Given the description of an element on the screen output the (x, y) to click on. 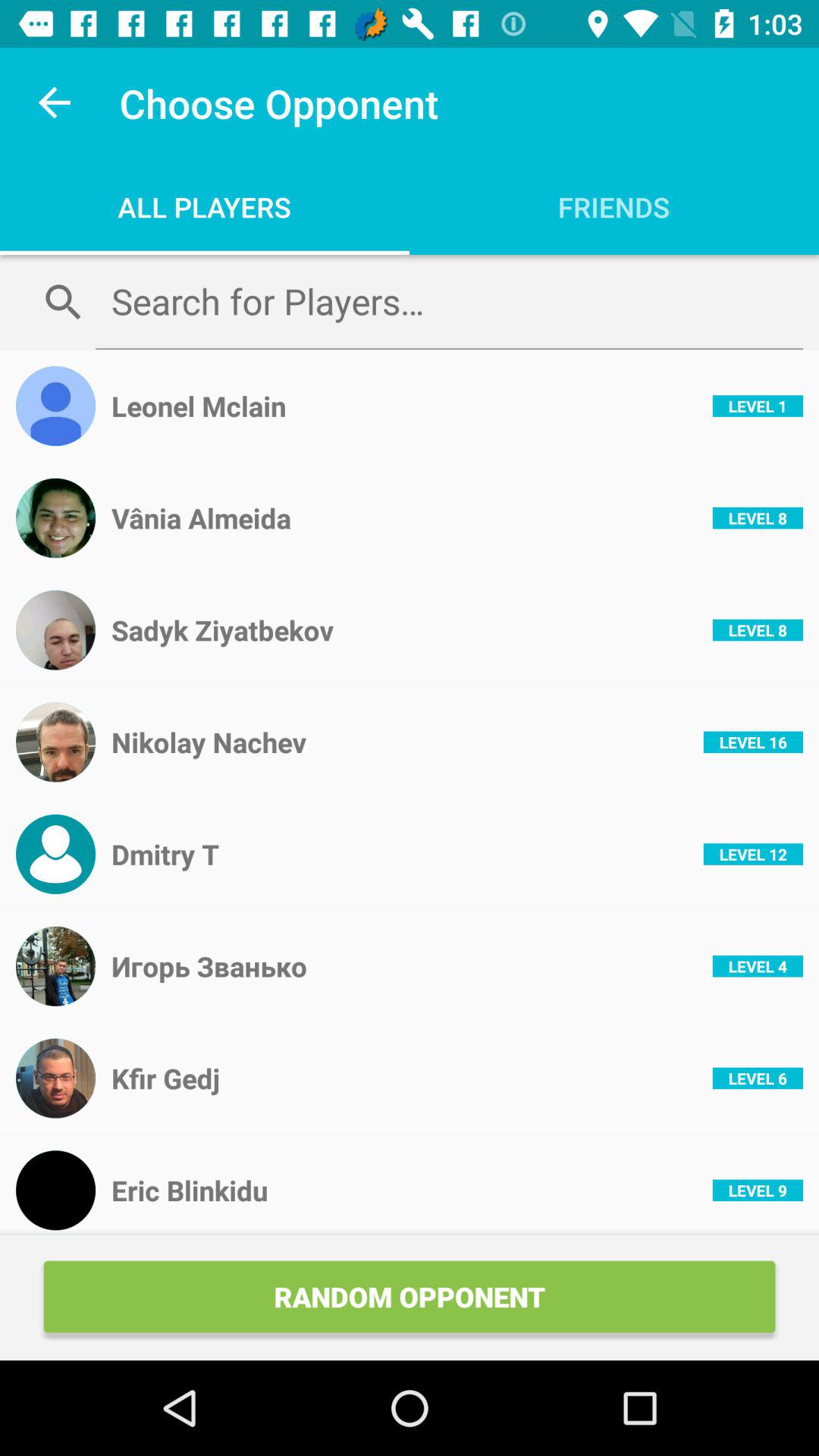
press item below the all players item (449, 301)
